Given the description of an element on the screen output the (x, y) to click on. 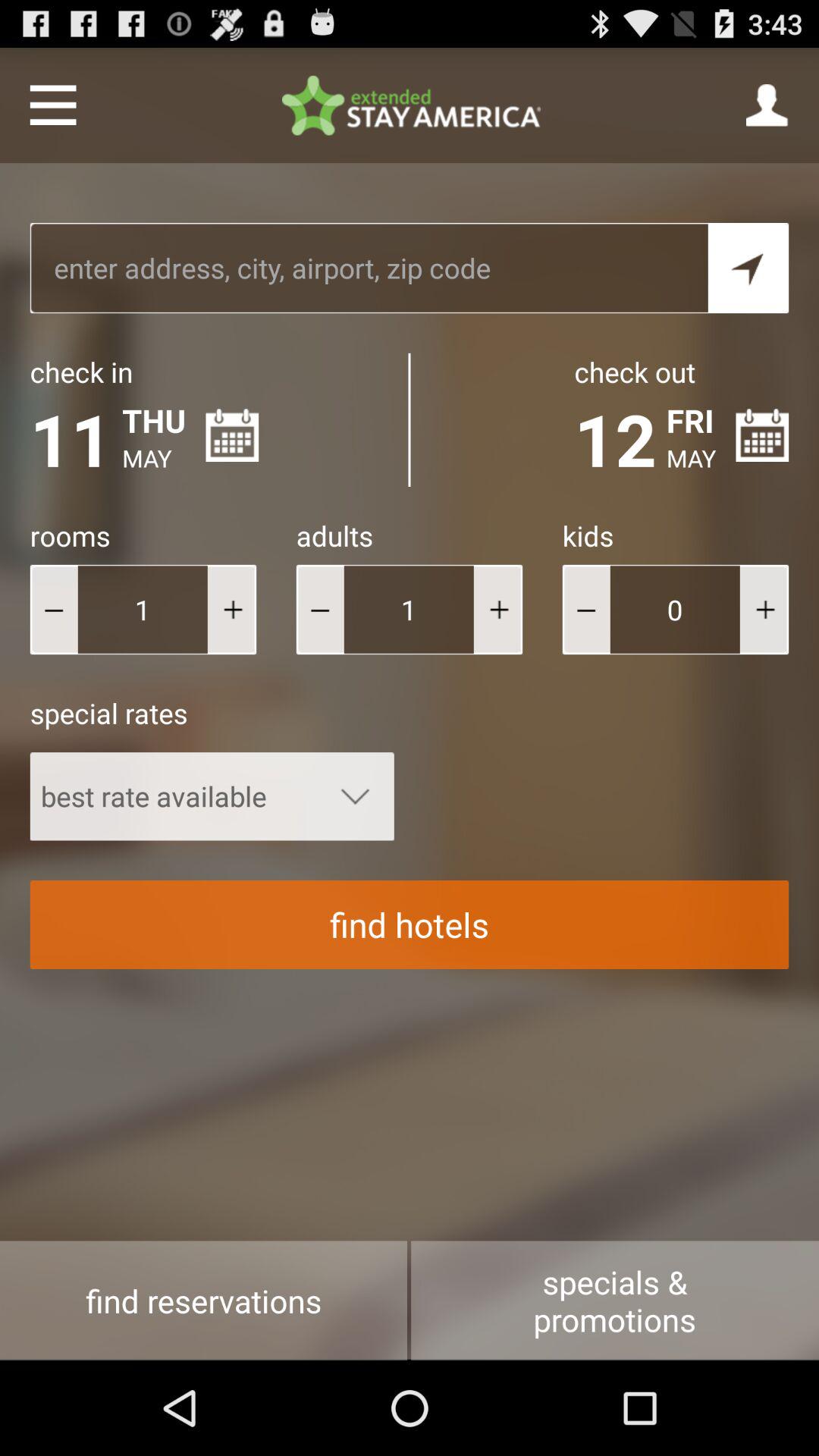
go to play option (231, 609)
